Given the description of an element on the screen output the (x, y) to click on. 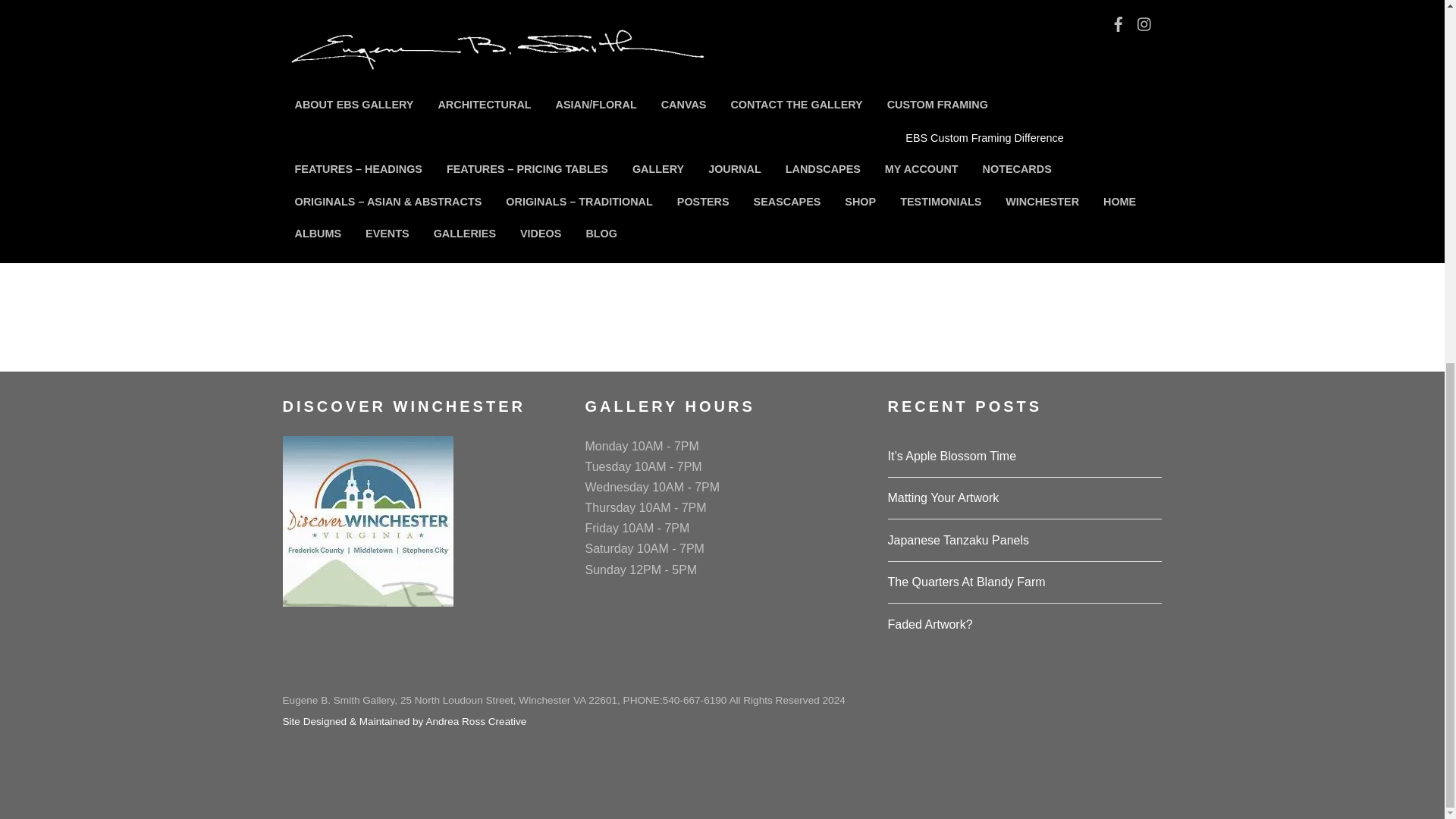
Iris Moon (1031, 89)
Need Custom Framing? (885, 249)
Matting Your Artwork (943, 497)
